Given the description of an element on the screen output the (x, y) to click on. 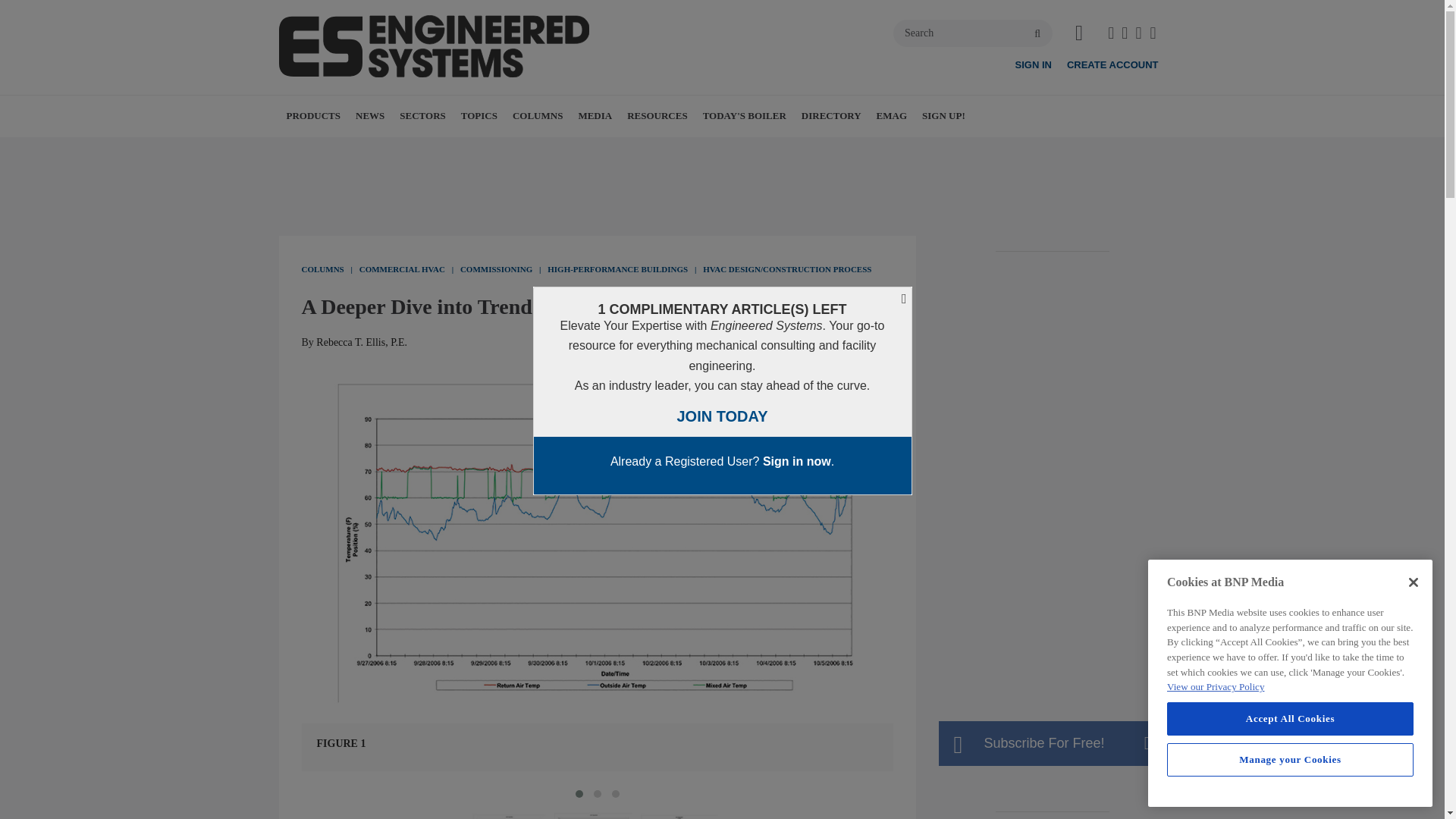
Search (972, 32)
Search (972, 32)
